Given the description of an element on the screen output the (x, y) to click on. 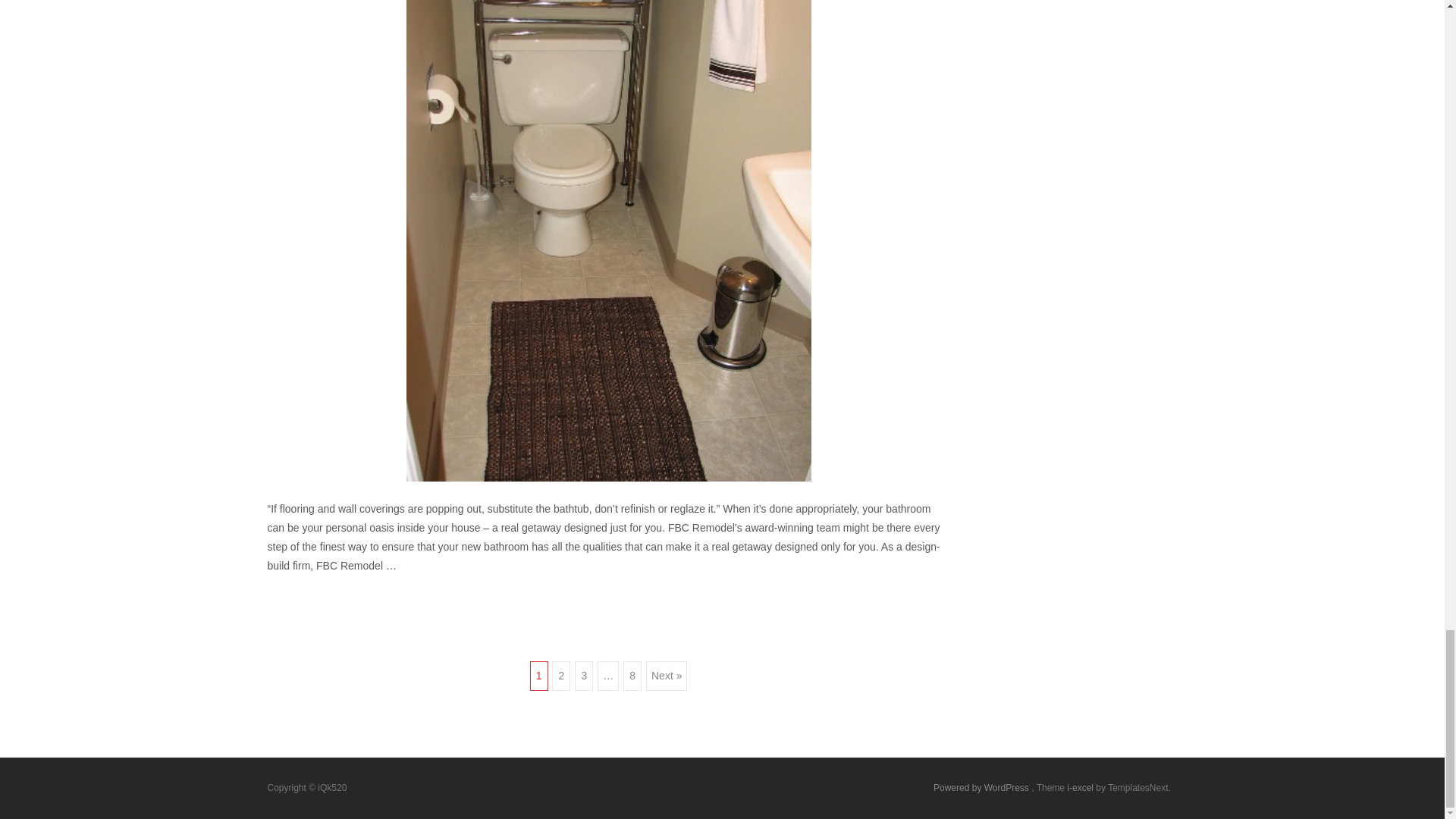
Semantic Personal Publishing Platform (981, 787)
Multipurpose Business WooCommerce Theme (1081, 787)
